Given the description of an element on the screen output the (x, y) to click on. 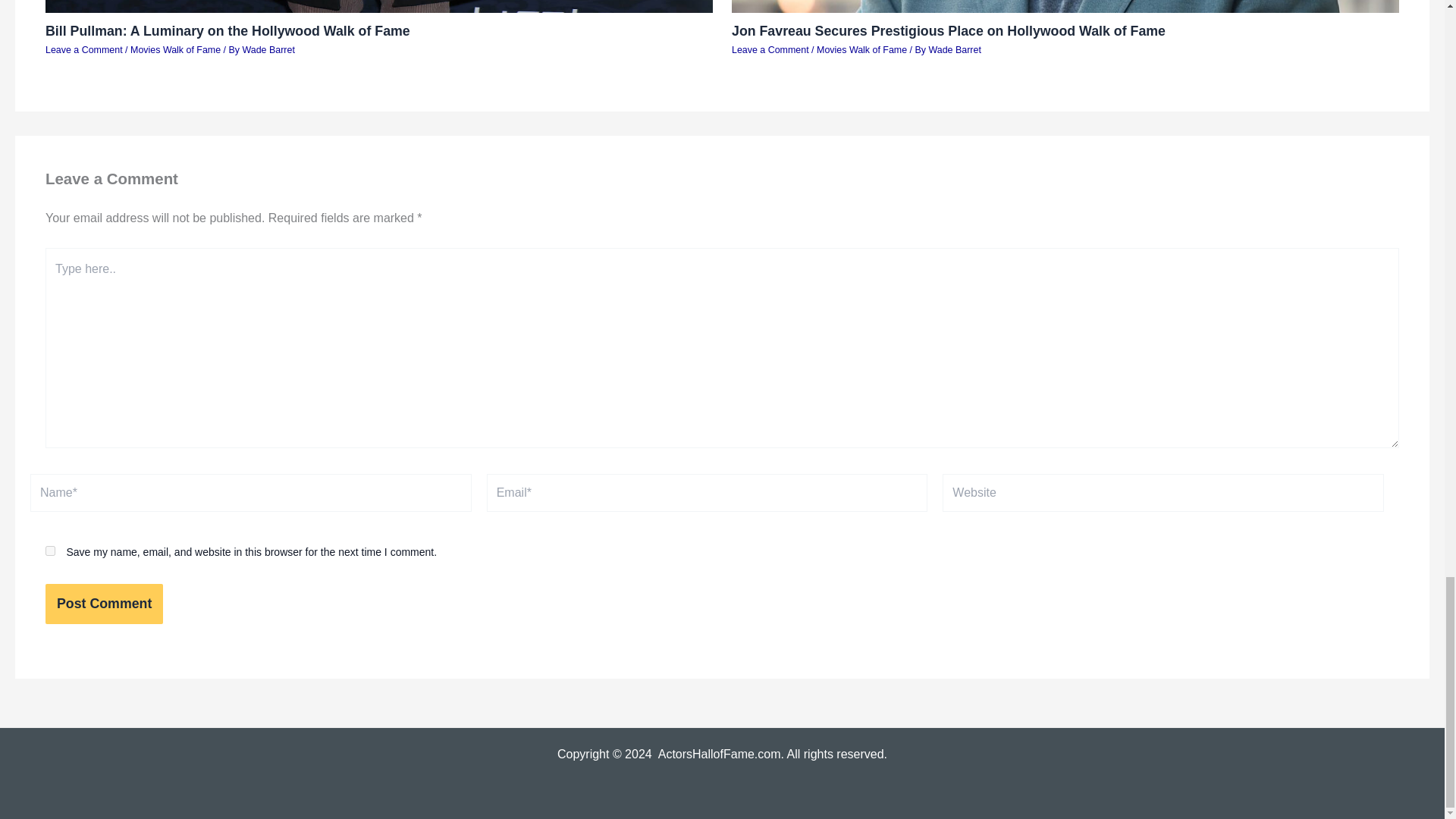
Movies Walk of Fame (176, 50)
Leave a Comment (83, 50)
Leave a Comment (770, 50)
Wade Barret (953, 50)
View all posts by Wade Barret (953, 50)
Post Comment (104, 603)
yes (50, 551)
View all posts by Wade Barret (267, 50)
Movies Walk of Fame (861, 50)
Wade Barret (267, 50)
Bill Pullman: A Luminary on the Hollywood Walk of Fame (227, 30)
Post Comment (104, 603)
